Given the description of an element on the screen output the (x, y) to click on. 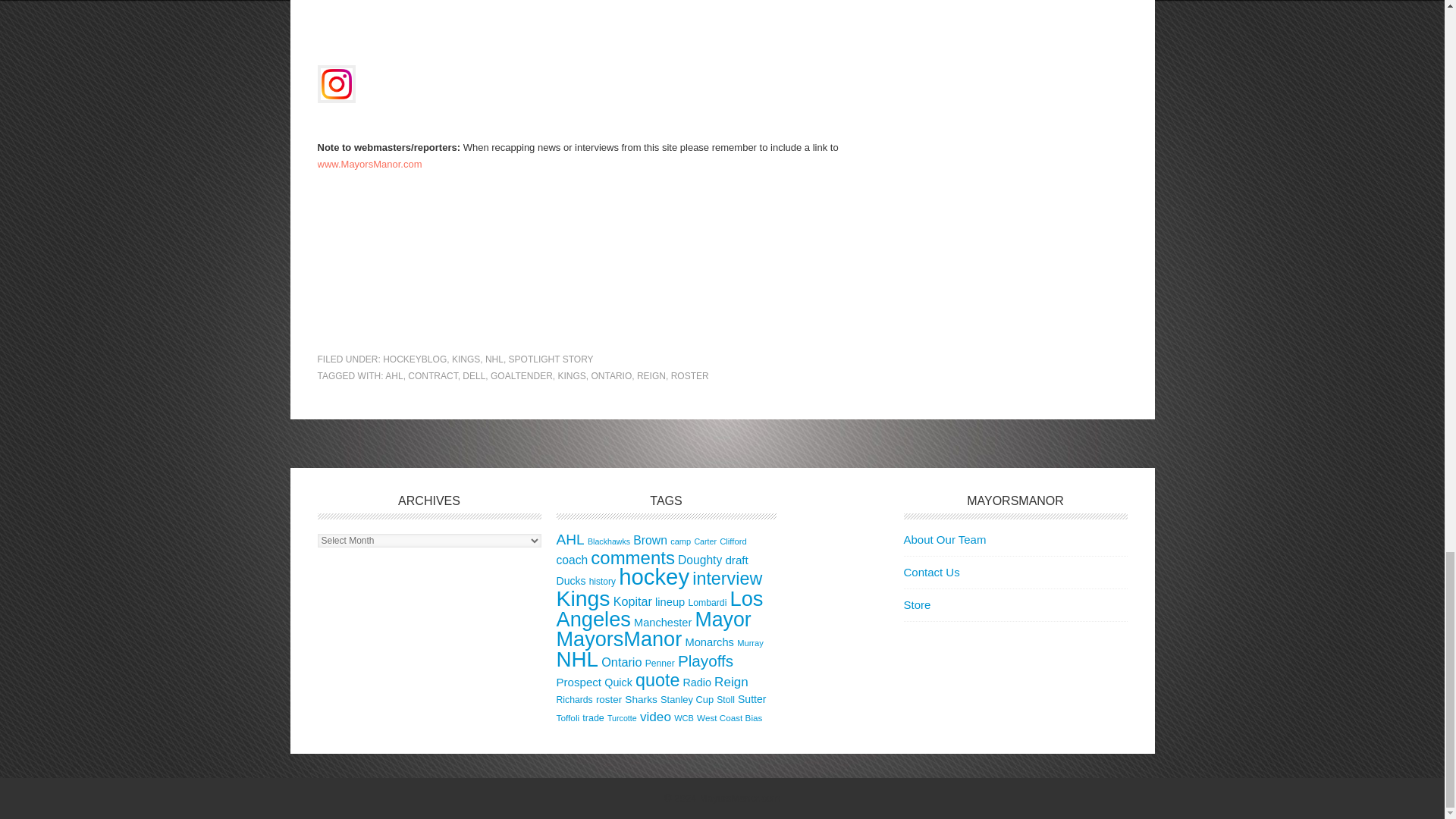
HOCKEYBLOG (414, 358)
ONTARIO (611, 376)
3rd party ad content (582, 285)
SPOTLIGHT STORY (551, 358)
www.MayorsManor.com (369, 163)
KINGS (571, 376)
NHL (493, 358)
AHL (394, 376)
CONTRACT (432, 376)
GOALTENDER (521, 376)
REIGN (651, 376)
DELL (473, 376)
ROSTER (690, 376)
KINGS (465, 358)
